Given the description of an element on the screen output the (x, y) to click on. 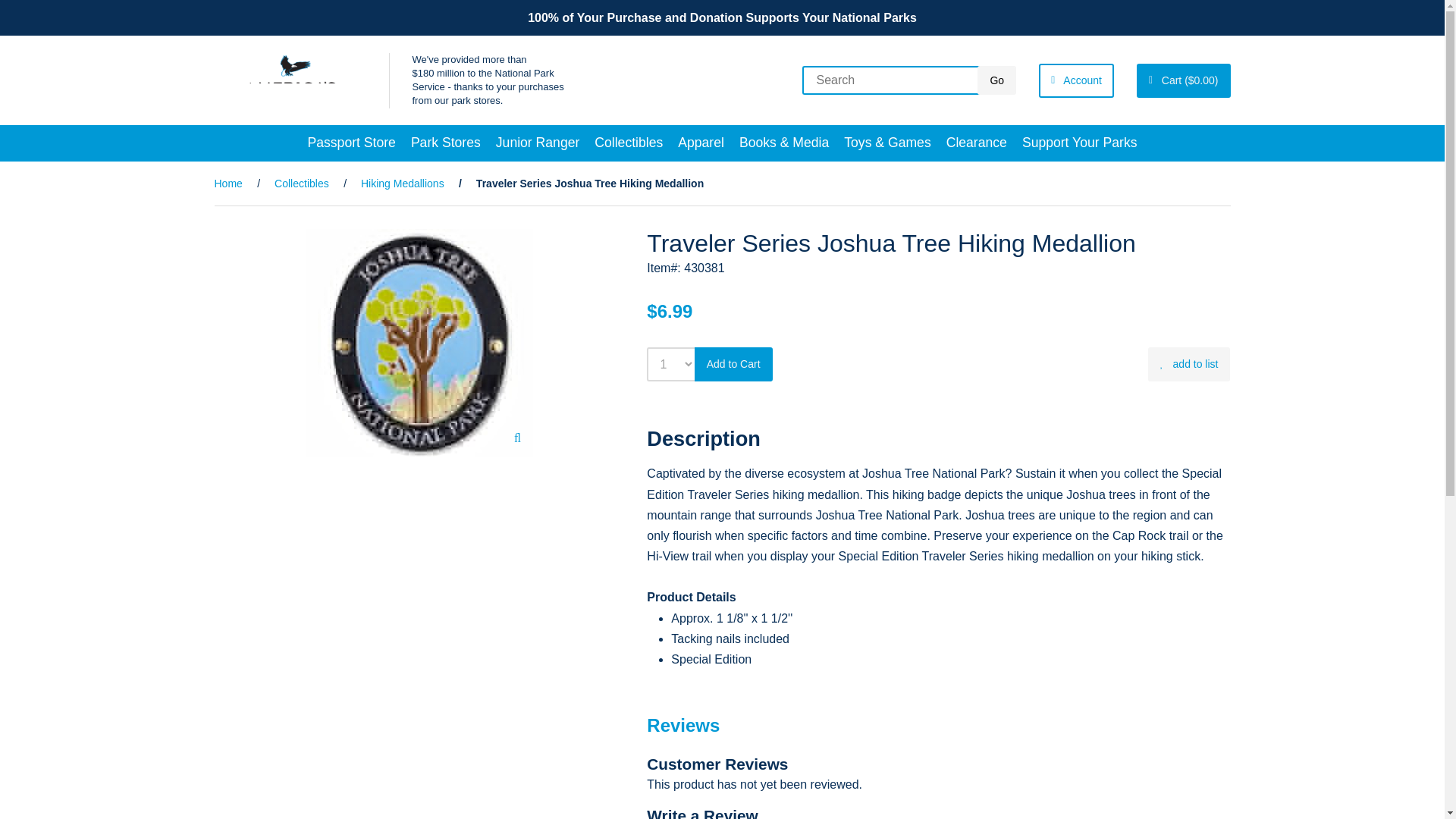
Passport Store (351, 142)
Park Stores (445, 142)
Junior Ranger (537, 142)
Traveler Series Joshua Tree Hiking Medallion (418, 342)
  Account (1076, 80)
Go (996, 80)
Apparel (700, 142)
Collectibles (627, 142)
